Given the description of an element on the screen output the (x, y) to click on. 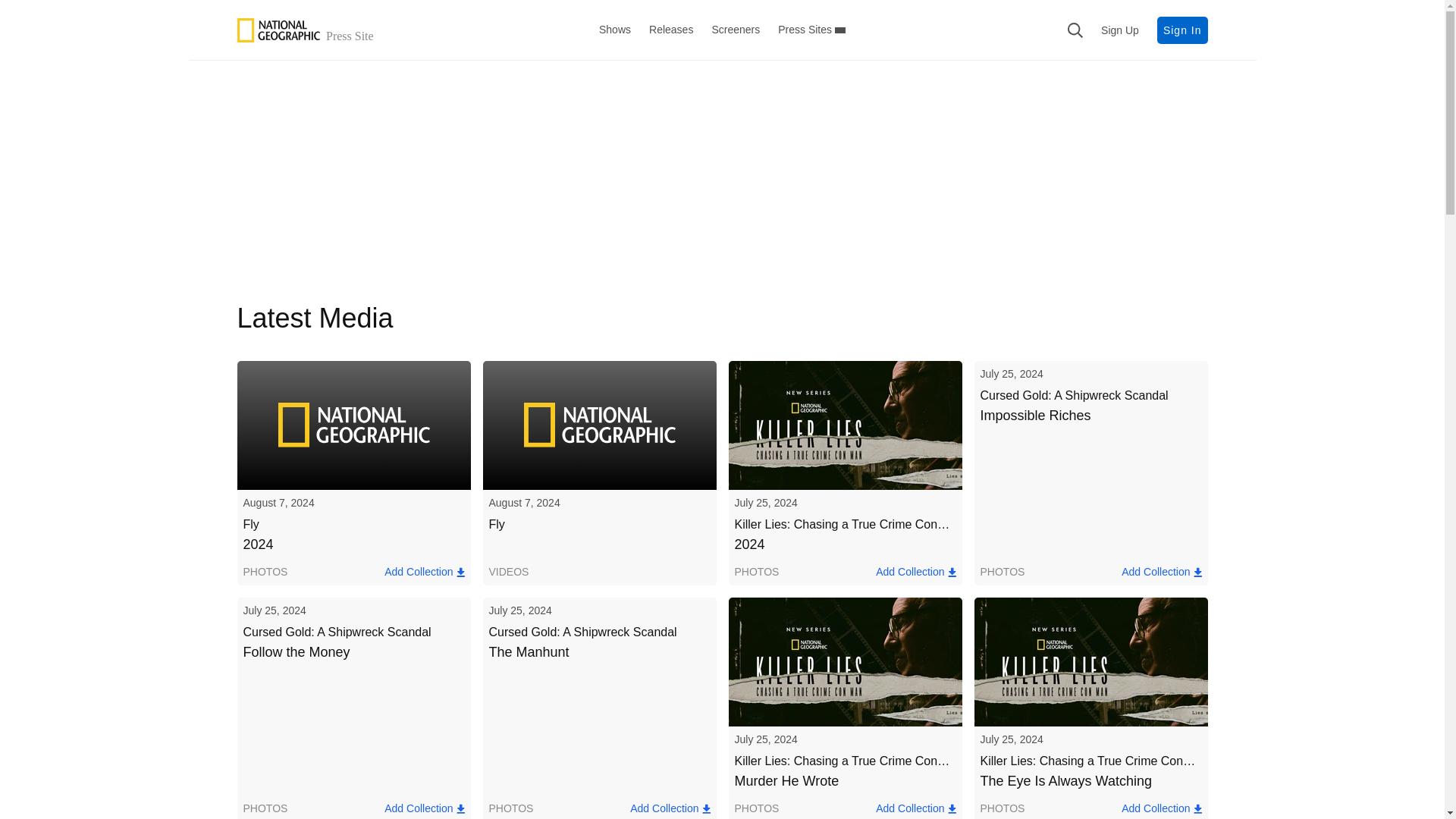
Sign In (1182, 30)
National Geographic (306, 30)
Sign Up (1119, 30)
Sign In (1182, 30)
Releases (671, 29)
Screeners (735, 29)
Sign Up (1119, 30)
Press Sites (811, 29)
Shows (721, 29)
